Given the description of an element on the screen output the (x, y) to click on. 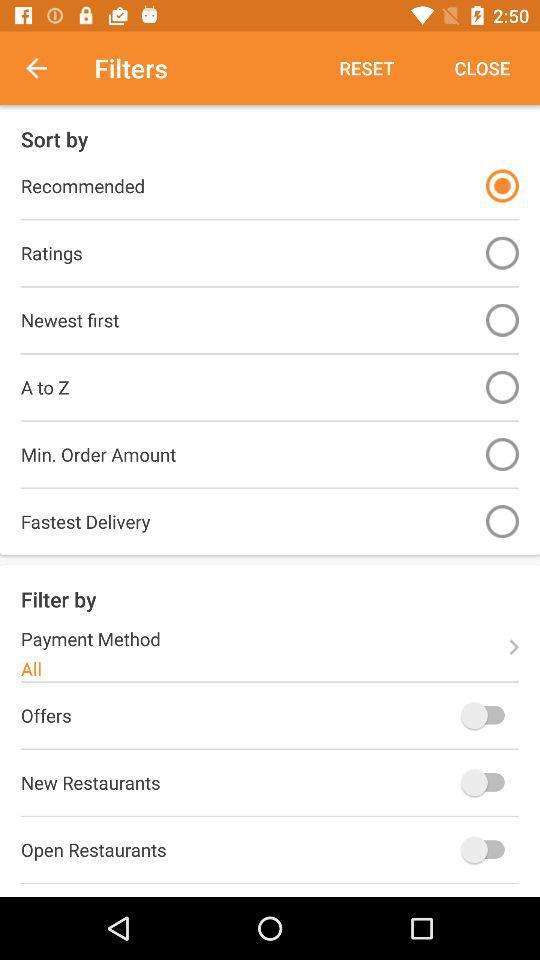
tap icon next to filters item (47, 68)
